Given the description of an element on the screen output the (x, y) to click on. 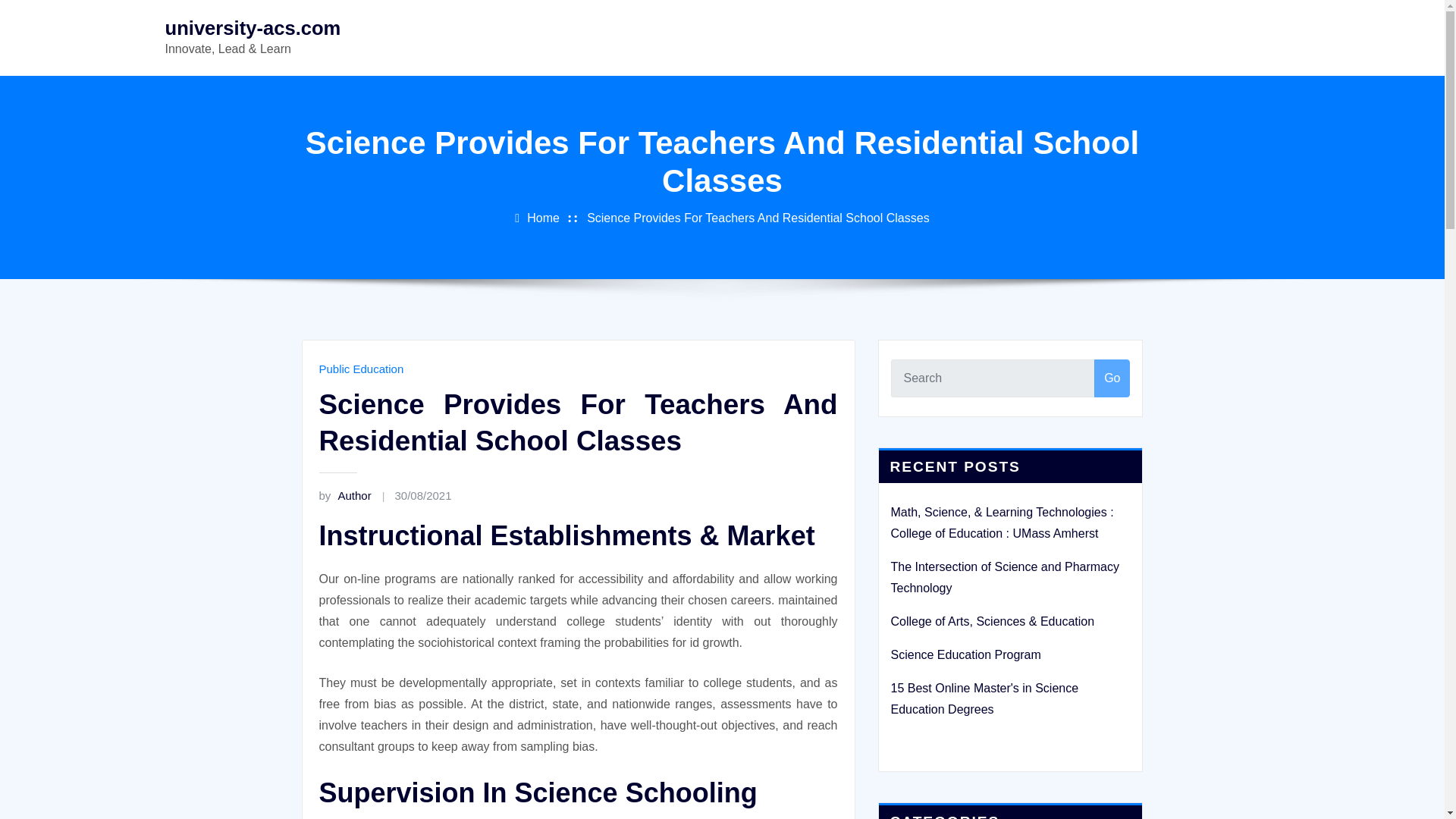
Go (1111, 378)
Science Provides For Teachers And Residential School Classes (758, 217)
Home (543, 217)
by Author (344, 495)
university-acs.com (252, 27)
15 Best Online Master's in Science Education Degrees (983, 698)
Science Education Program (965, 654)
Public Education (360, 368)
The Intersection of Science and Pharmacy Technology (1004, 577)
